Given the description of an element on the screen output the (x, y) to click on. 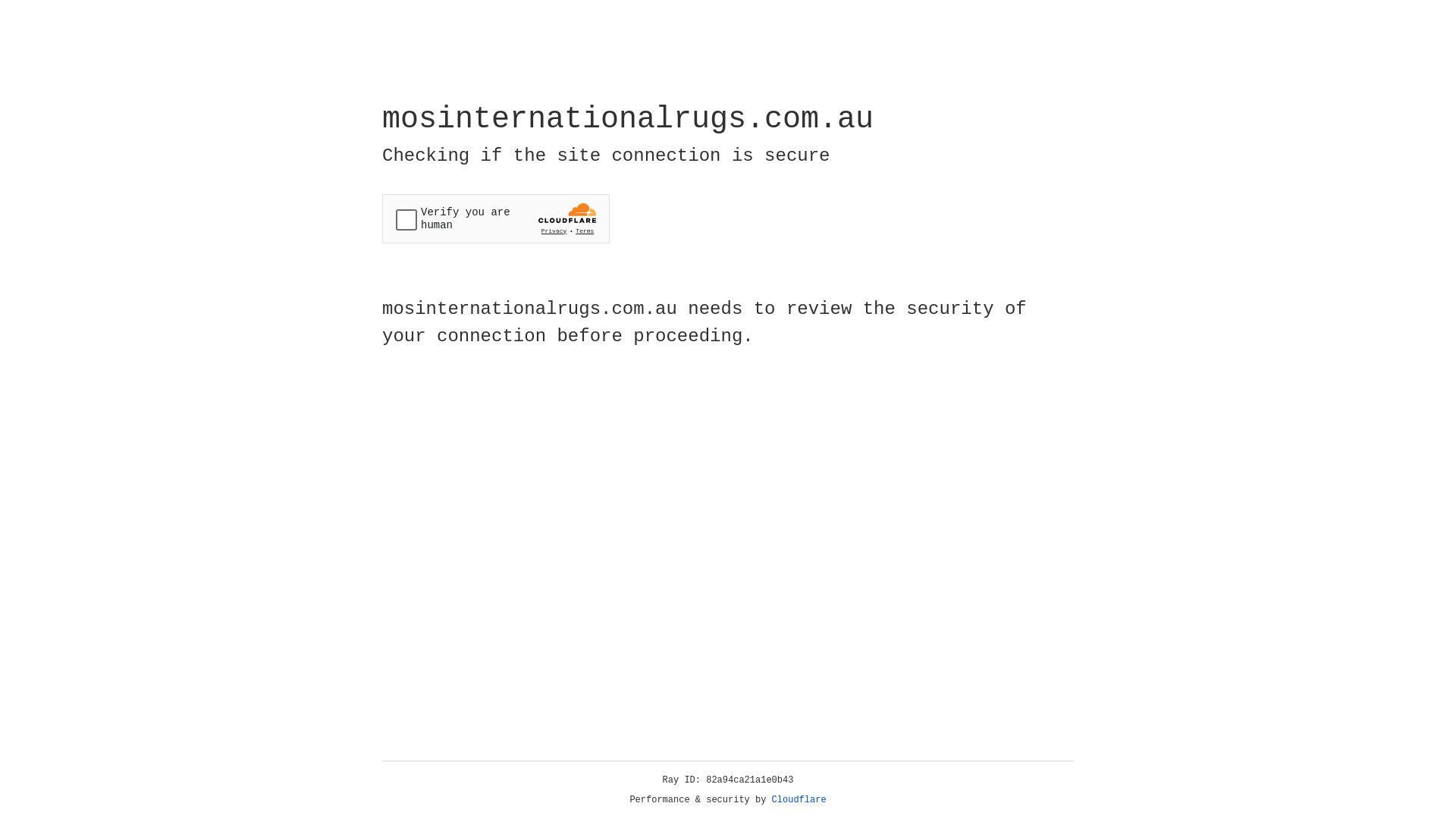
Cloudflare Element type: text (798, 799)
Widget containing a Cloudflare security challenge Element type: hover (495, 218)
